Given the description of an element on the screen output the (x, y) to click on. 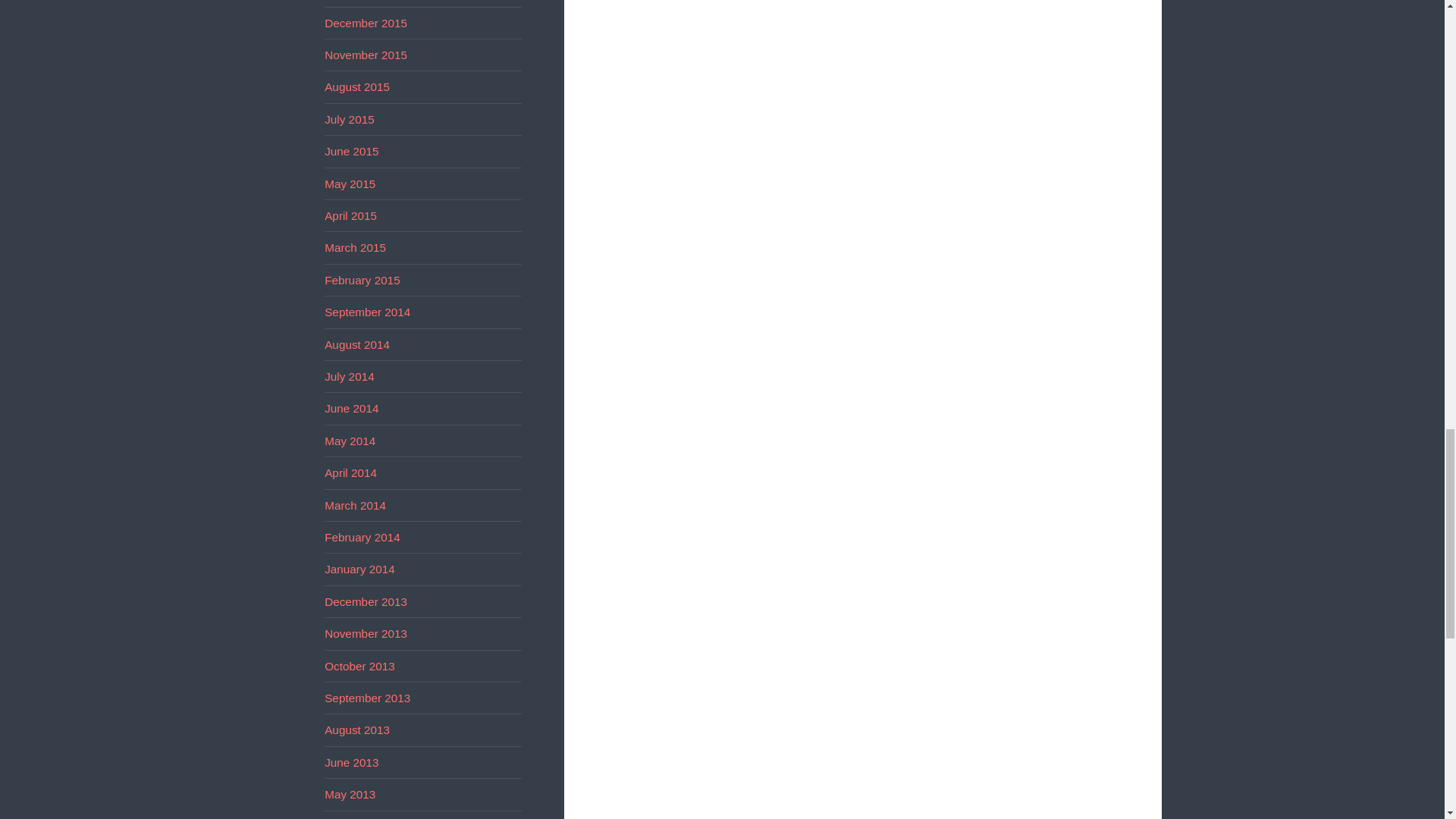
July 2015 (349, 119)
May 2015 (349, 183)
April 2015 (350, 215)
August 2015 (357, 86)
June 2015 (351, 151)
March 2015 (354, 246)
December 2015 (365, 22)
November 2015 (365, 54)
